Given the description of an element on the screen output the (x, y) to click on. 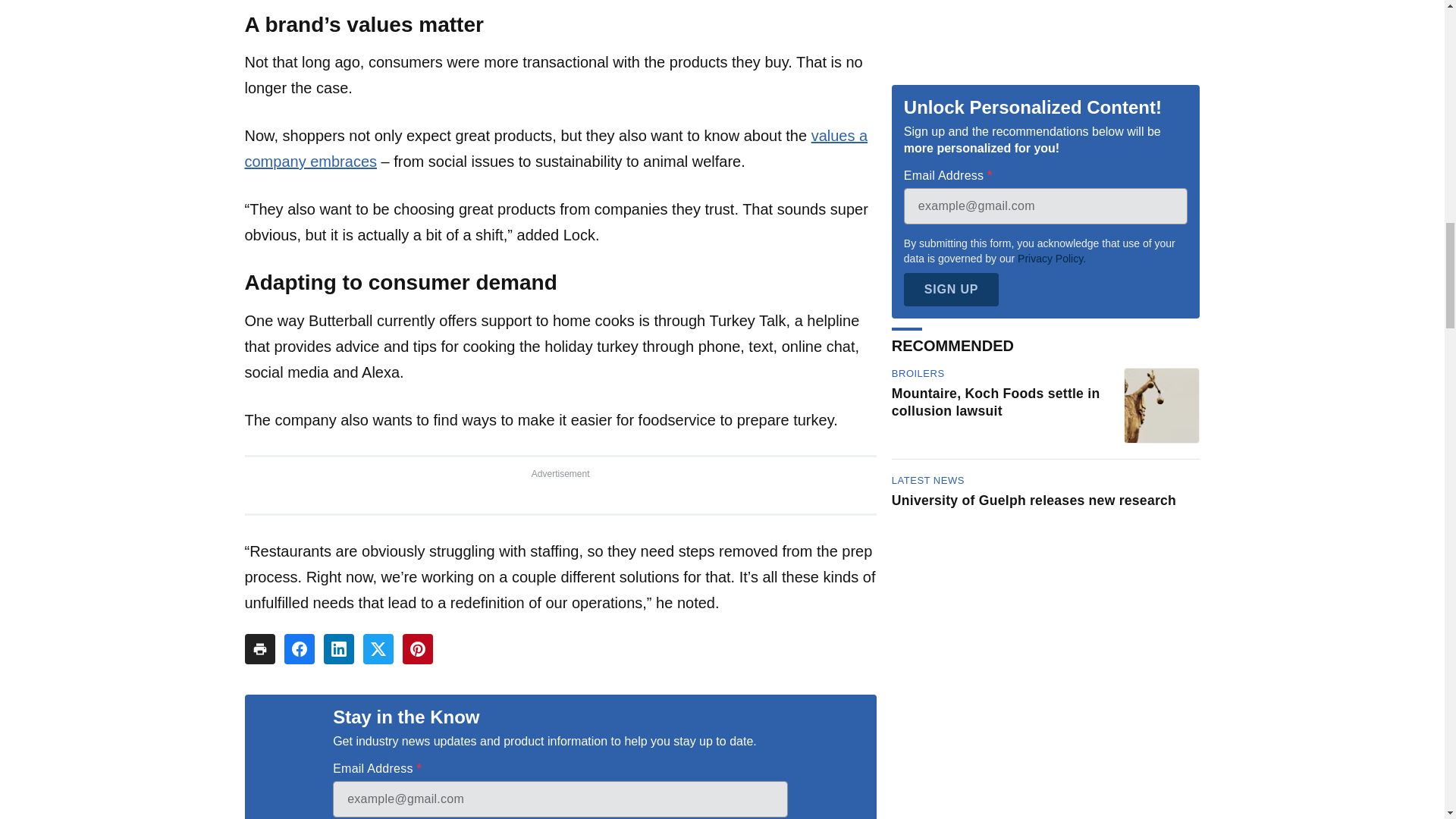
Share To pinterest (416, 648)
Share To print (259, 648)
Share To facebook (298, 648)
Share To linkedin (338, 648)
Share To twitter (377, 648)
